Given the description of an element on the screen output the (x, y) to click on. 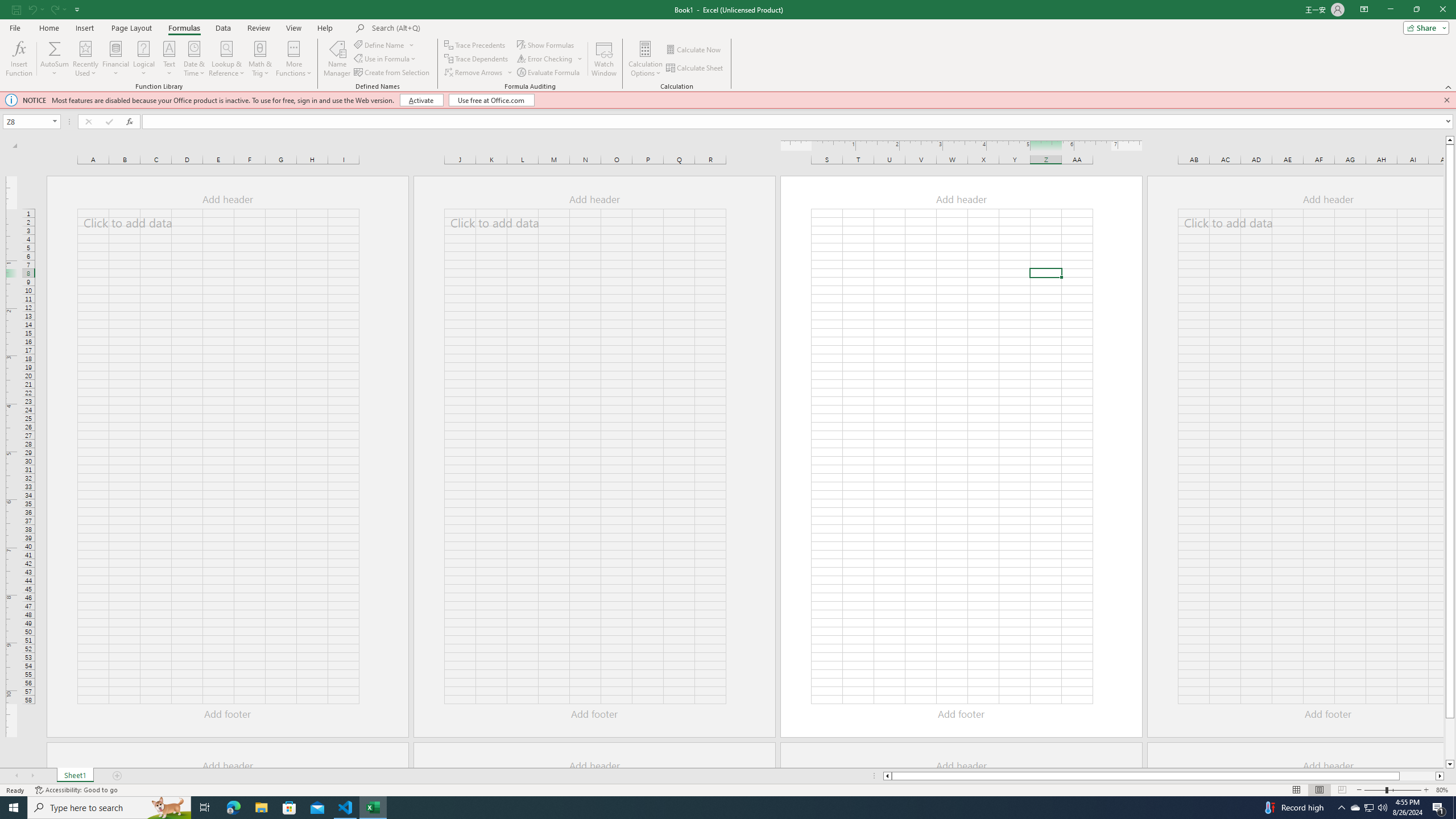
Use free at Office.com (491, 100)
Sum (54, 48)
Create from Selection... (392, 72)
Use in Formula (385, 58)
Define Name... (379, 44)
Trace Dependents (477, 58)
